Given the description of an element on the screen output the (x, y) to click on. 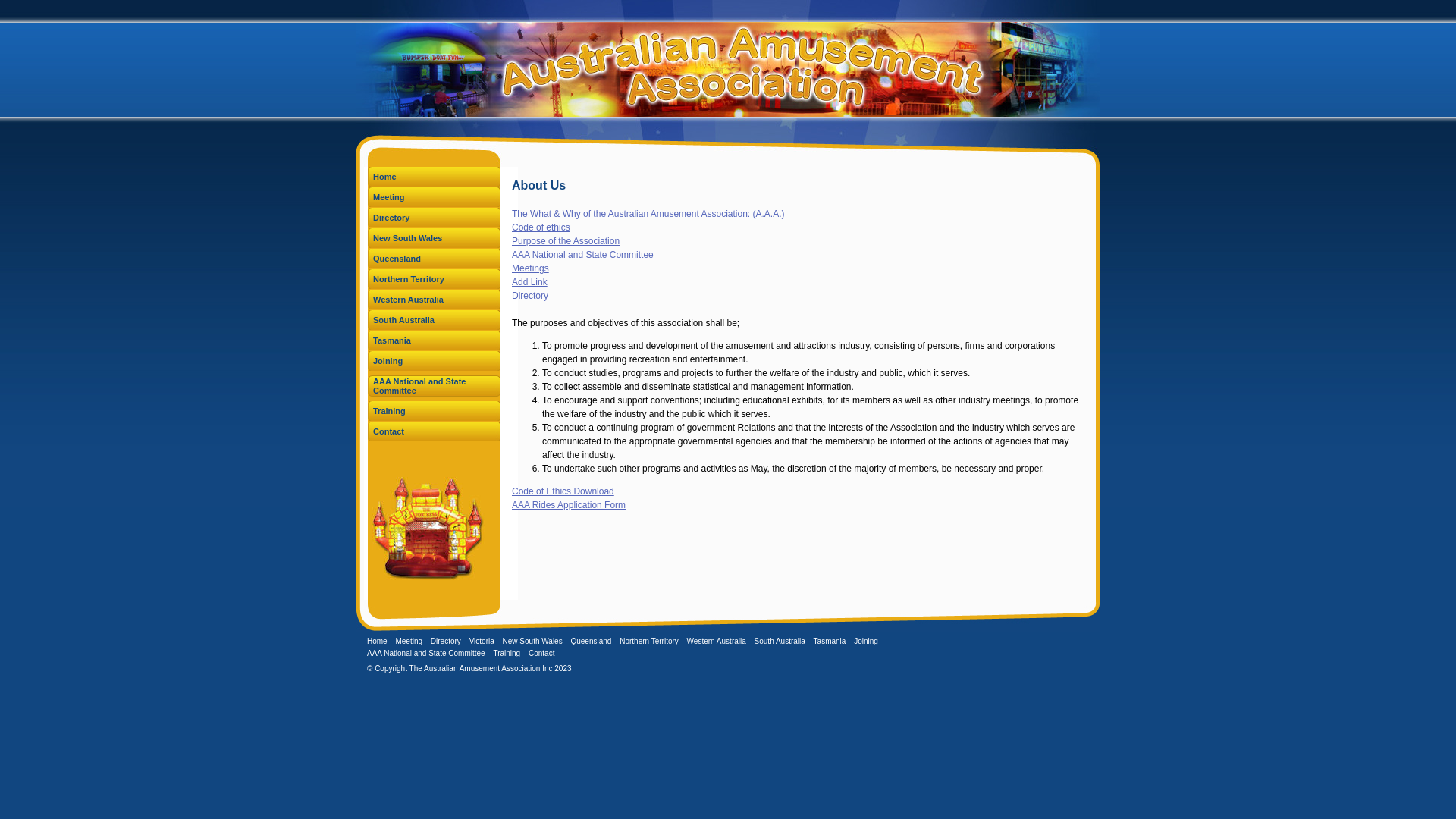
New South Wales Element type: text (433, 237)
Tasmania Element type: text (433, 340)
Code of Ethics Download Element type: text (562, 491)
Purpose of the Association Element type: text (565, 240)
AAA National and State Committee Element type: text (426, 653)
Add Link
Directory Element type: text (529, 288)
AAA National and State Committee Element type: text (433, 385)
Northern Territory Element type: text (648, 641)
Contact Element type: text (541, 653)
Home Element type: text (433, 176)
Tasmania Element type: text (829, 641)
Western Australia Element type: text (433, 299)
AAA National and State Committee Element type: text (582, 254)
Joining Element type: text (433, 360)
New South Wales Element type: text (532, 641)
South Australia Element type: text (433, 319)
Victoria Element type: text (481, 641)
South Australia Element type: text (779, 641)
Meeting Element type: text (408, 641)
Training Element type: text (506, 653)
Training Element type: text (433, 410)
Queensland Element type: text (590, 641)
Directory Element type: text (433, 217)
Contact Element type: text (433, 431)
Home Element type: text (377, 641)
Northern Territory Element type: text (433, 278)
Meeting Element type: text (433, 197)
Meetings Element type: text (530, 268)
Joining Element type: text (865, 641)
Queensland Element type: text (433, 258)
Western Australia Element type: text (716, 641)
AAA Rides Application Form Element type: text (568, 504)
Directory Element type: text (445, 641)
